Given the description of an element on the screen output the (x, y) to click on. 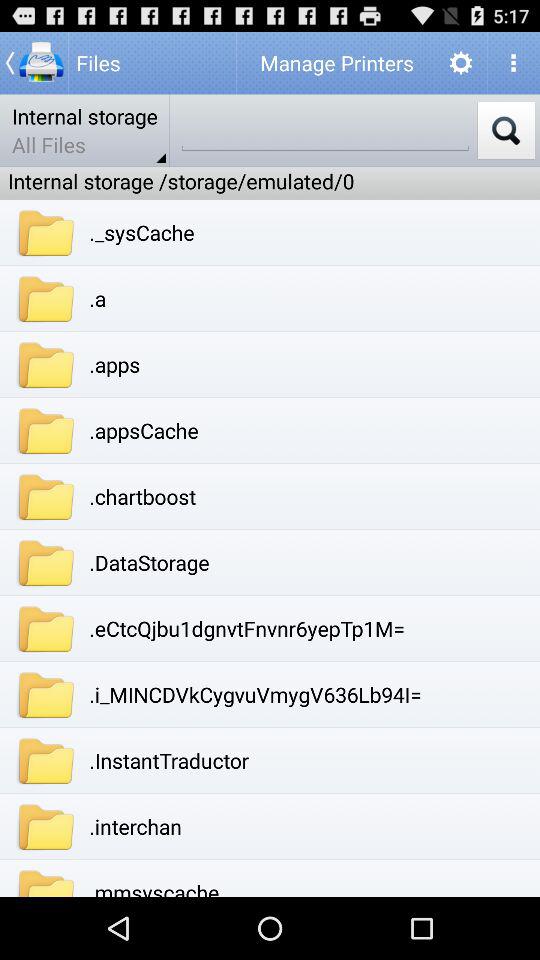
select ._syscache app (141, 232)
